Given the description of an element on the screen output the (x, y) to click on. 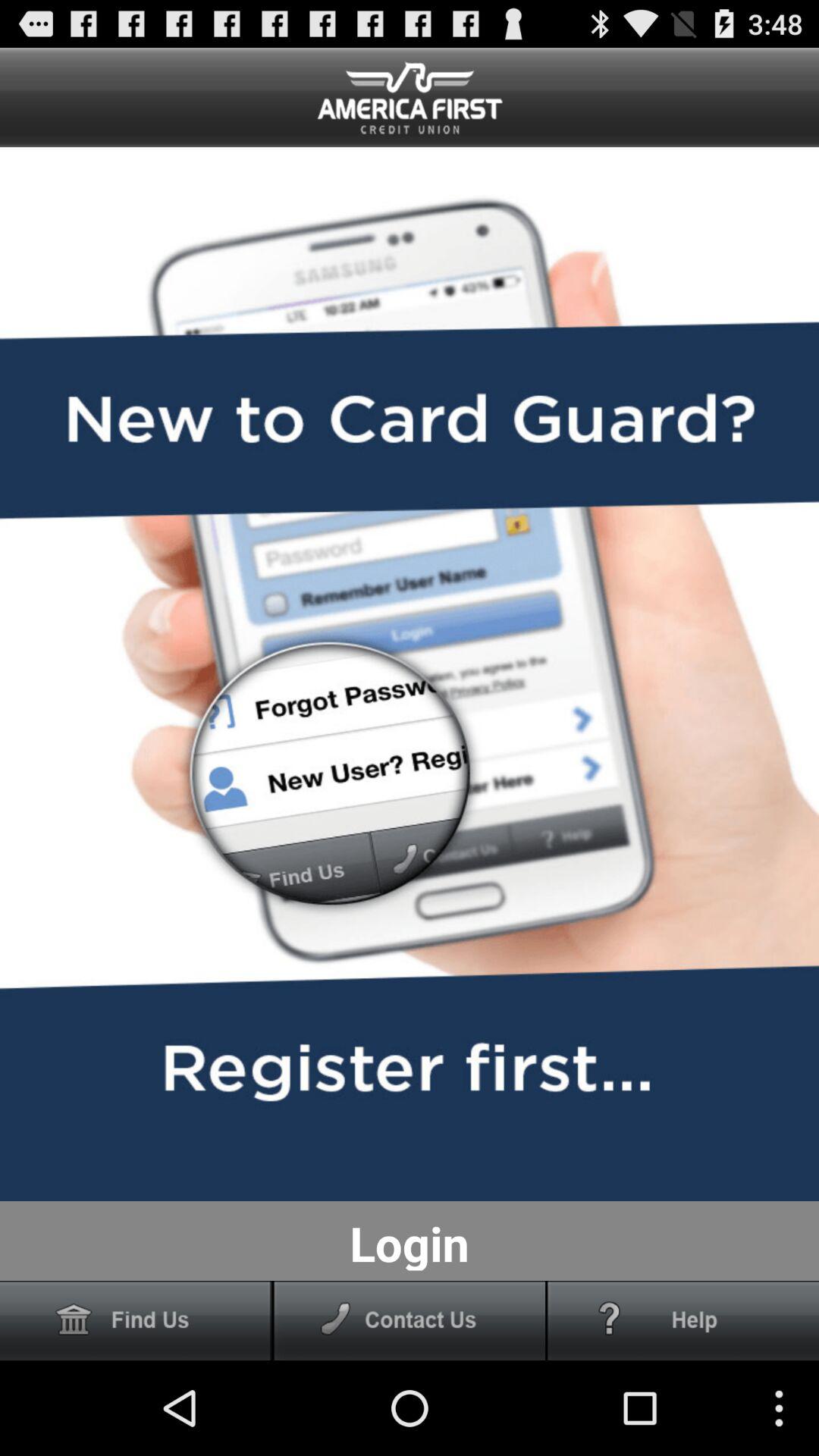
find option (135, 1320)
